Given the description of an element on the screen output the (x, y) to click on. 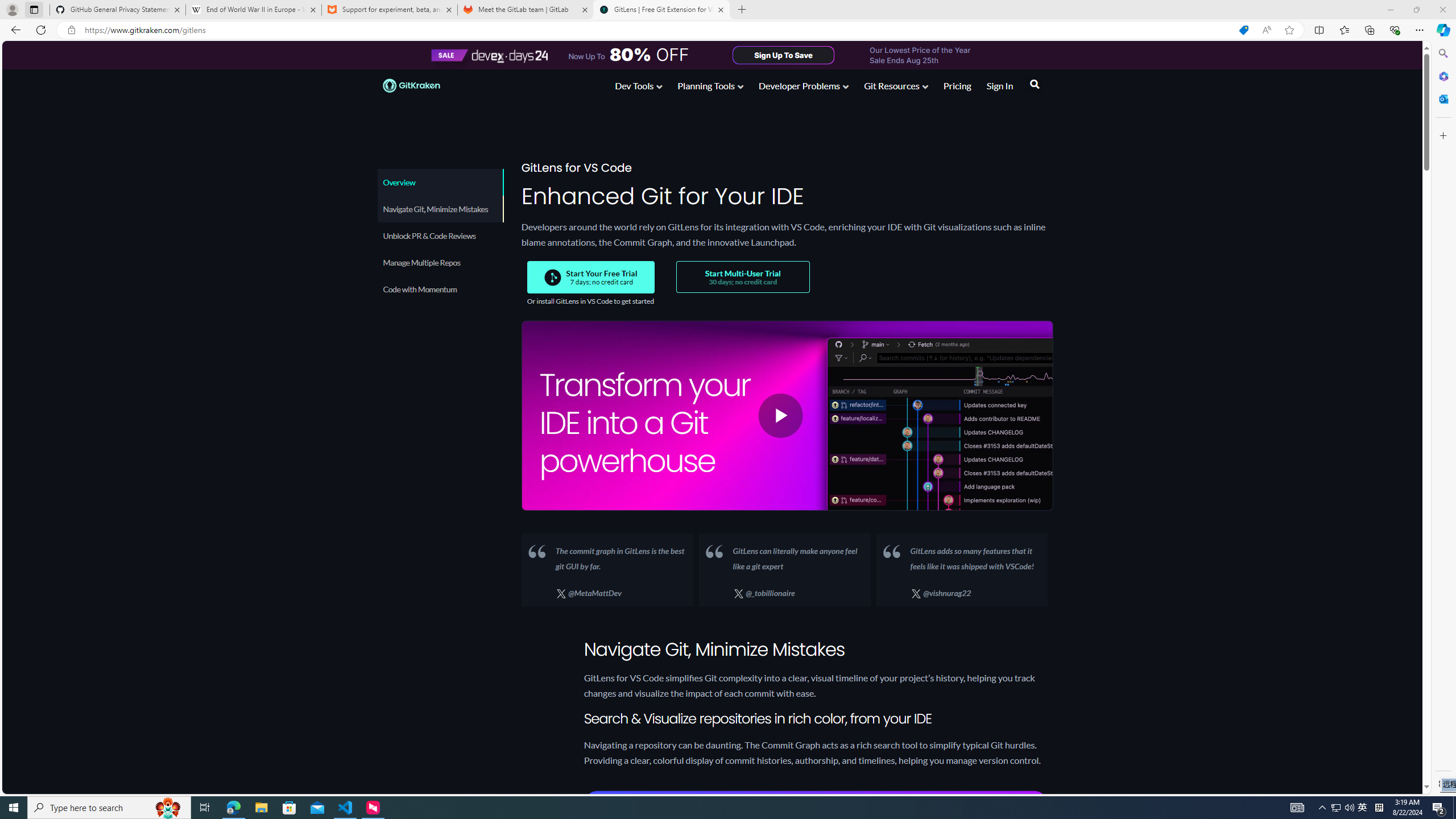
Pricing (957, 87)
Manage Multiple Repos (440, 262)
Task View (204, 807)
Start Your Free Trial 7 days; no credit card (591, 277)
Overview (439, 182)
Microsoft Store (289, 807)
Start (13, 807)
